Given the description of an element on the screen output the (x, y) to click on. 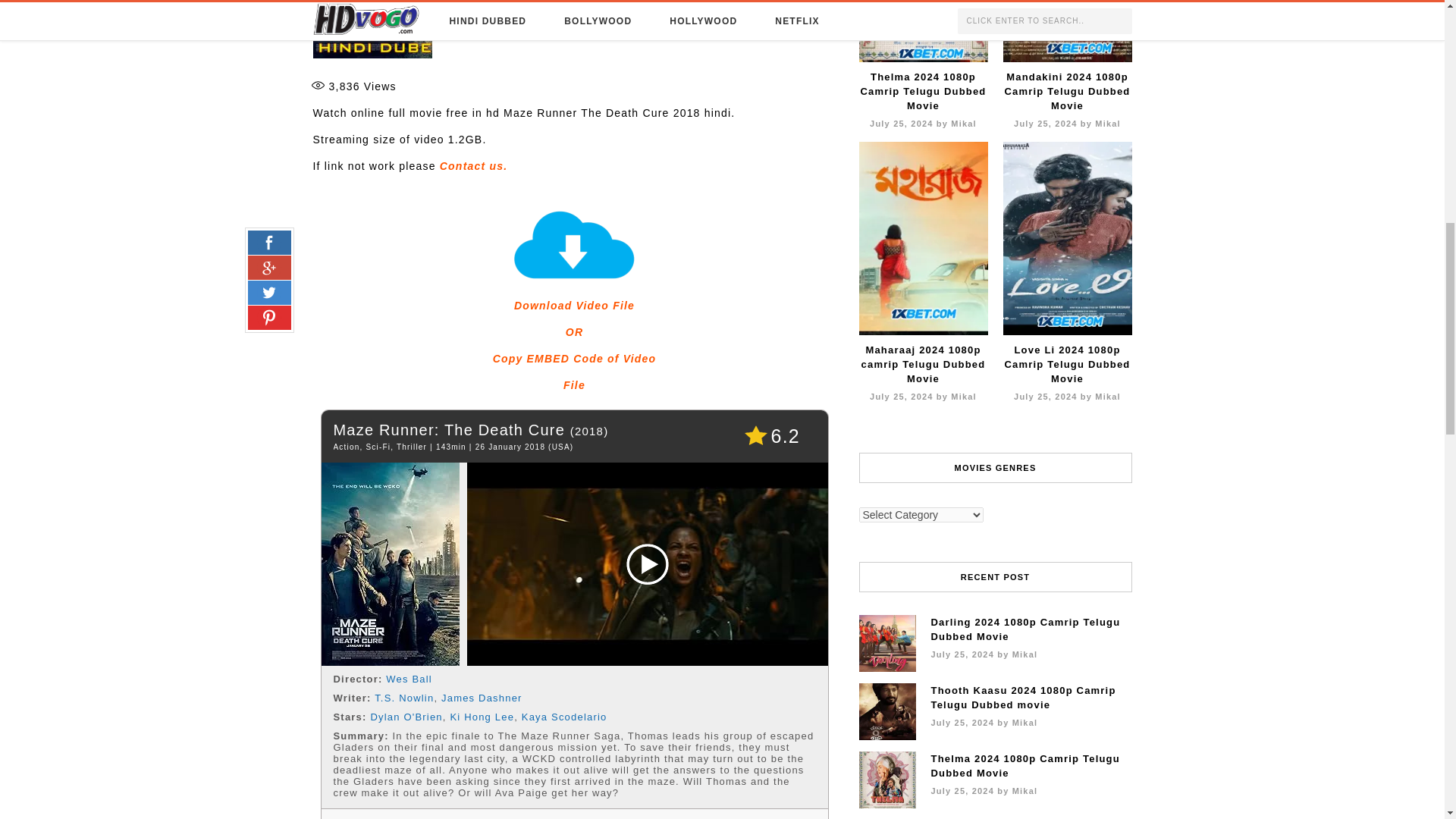
Contact us. (472, 165)
James Dashner (481, 697)
Kaya Scodelario (564, 716)
Dylan O'Brien (405, 716)
Wes Ball (408, 678)
T.S. Nowlin (574, 345)
Maze Runner: The Death Cure (403, 697)
Ki Hong Lee (449, 429)
